Given the description of an element on the screen output the (x, y) to click on. 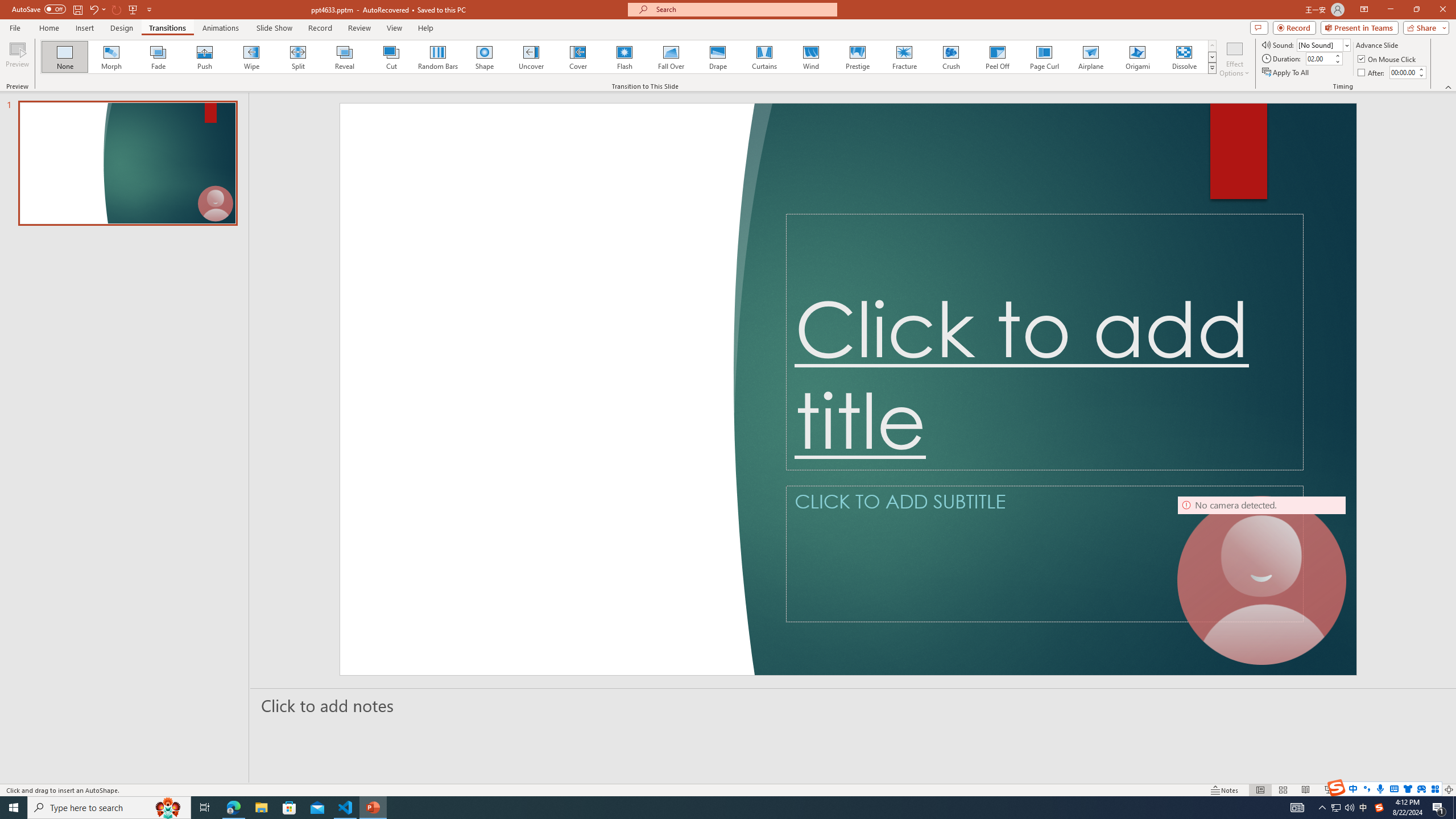
Uncover (531, 56)
Sound (1324, 44)
AutomationID: AnimationTransitionGallery (628, 56)
Reveal (344, 56)
Prestige (857, 56)
